Given the description of an element on the screen output the (x, y) to click on. 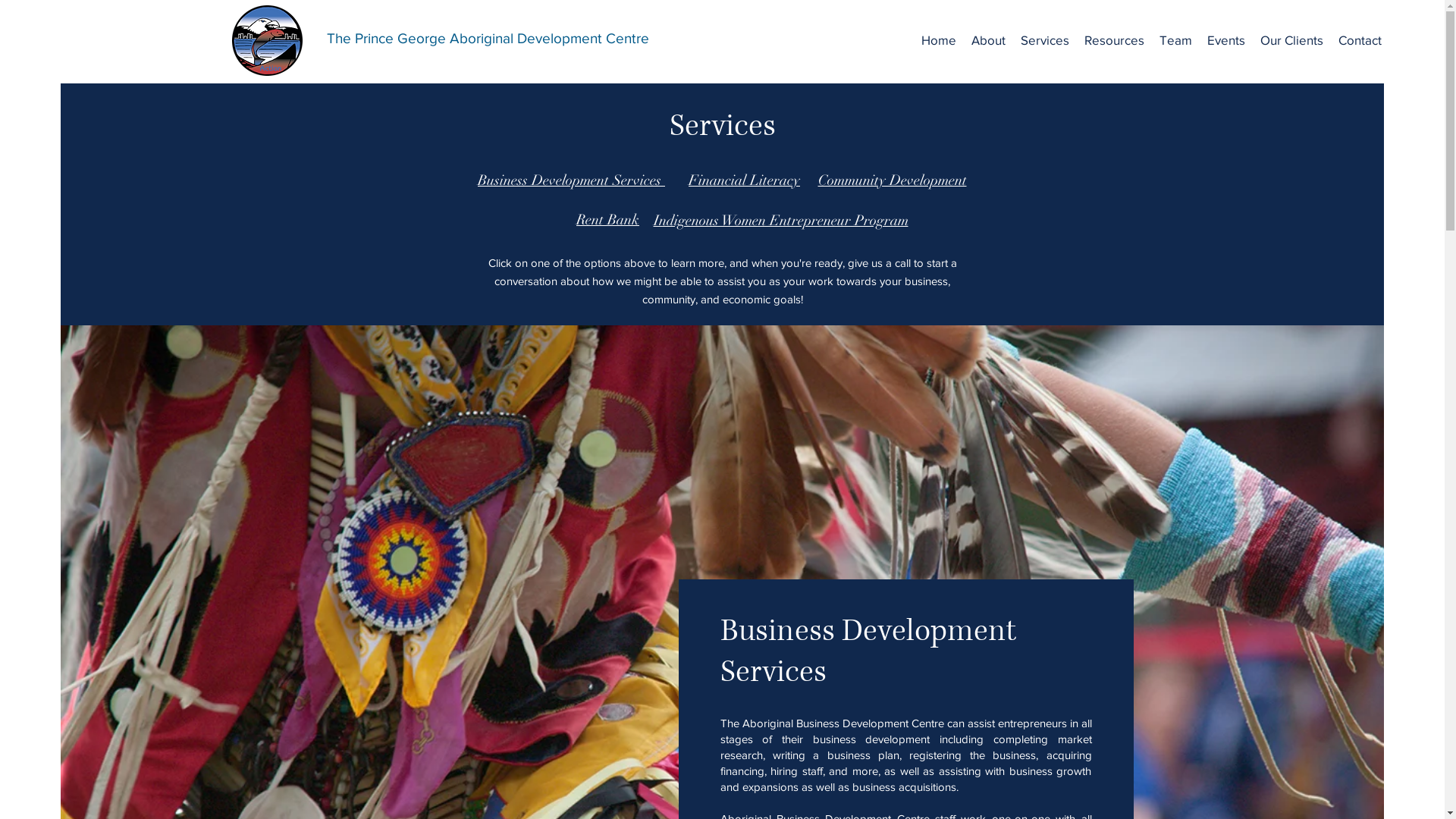
Community Development Element type: text (891, 180)
About Element type: text (988, 39)
Contact Element type: text (1359, 39)
Rent Bank Element type: text (607, 219)
Financial Literacy Element type: text (744, 180)
Our Clients Element type: text (1291, 39)
Team Element type: text (1175, 39)
The Prince George Aboriginal Development Centre Element type: text (487, 38)
Resources Element type: text (1113, 39)
Events Element type: text (1225, 39)
Home Element type: text (938, 39)
Business Development Services  Element type: text (571, 180)
Services Element type: text (1044, 39)
Indigenous Women Entrepreneur Program Element type: text (780, 220)
